Given the description of an element on the screen output the (x, y) to click on. 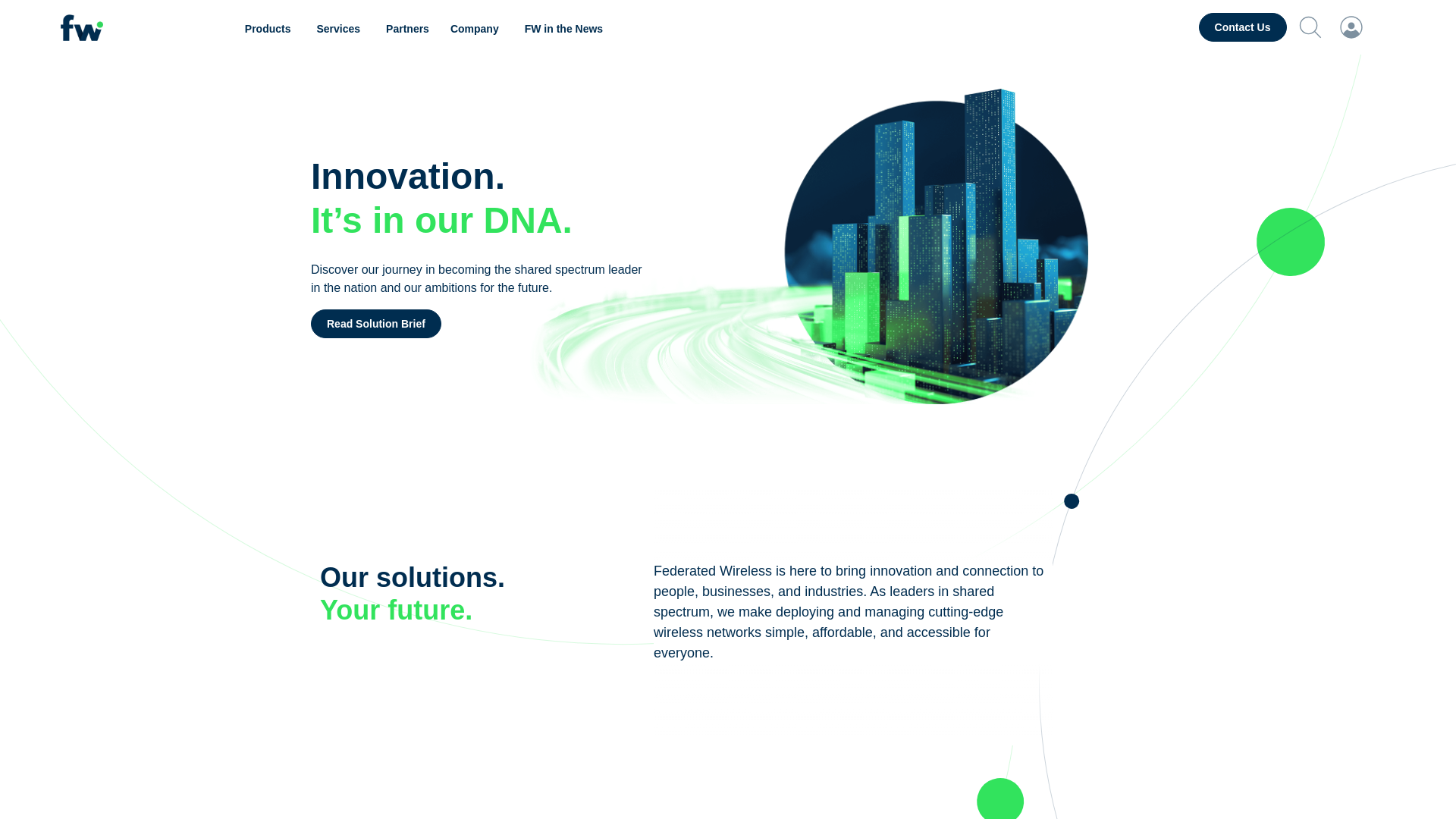
Services (340, 29)
Partners (407, 29)
Products (269, 29)
Contact Us (1242, 27)
FW in the News (563, 29)
Company (476, 29)
Read Solution Brief (376, 323)
